Given the description of an element on the screen output the (x, y) to click on. 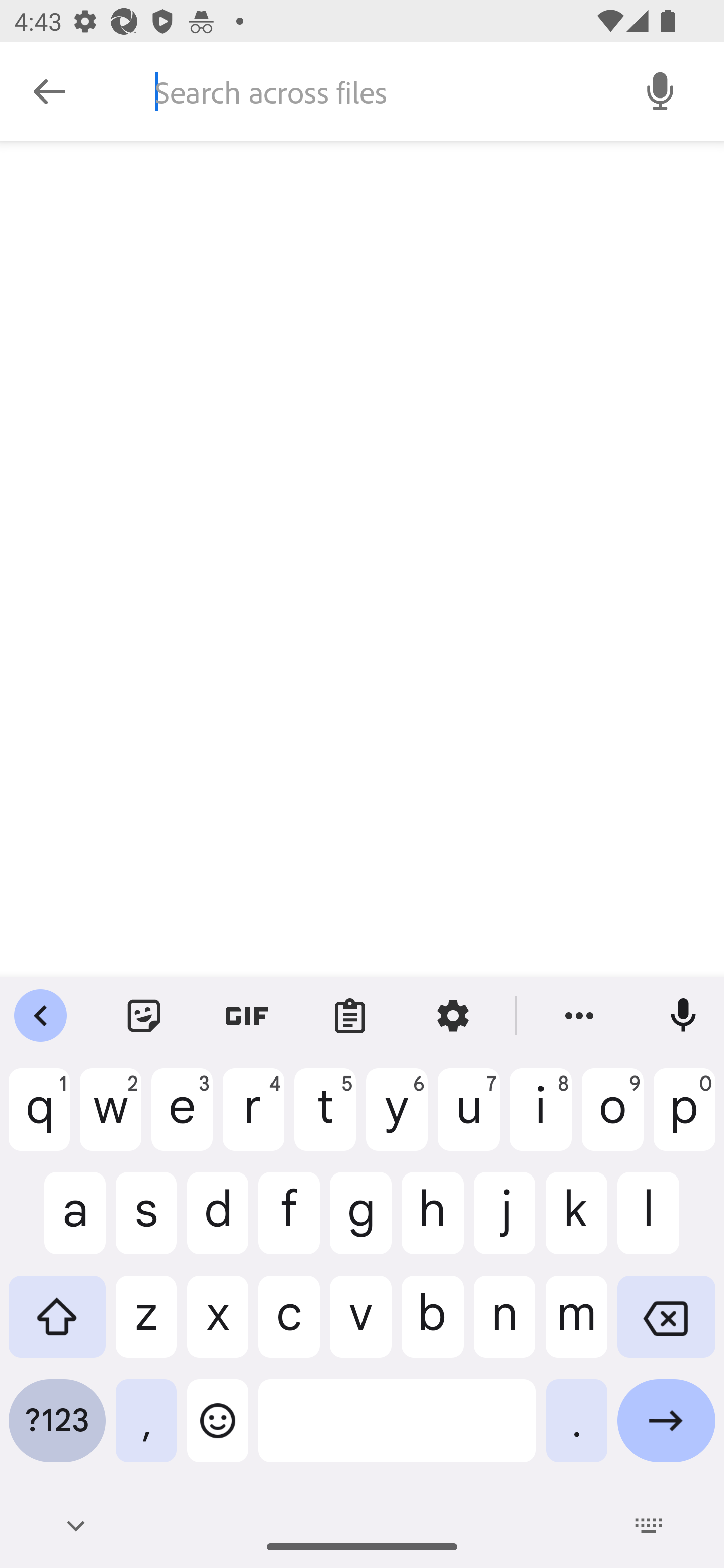
Navigate up (49, 91)
Voice search (660, 90)
Search across files (375, 91)
